Given the description of an element on the screen output the (x, y) to click on. 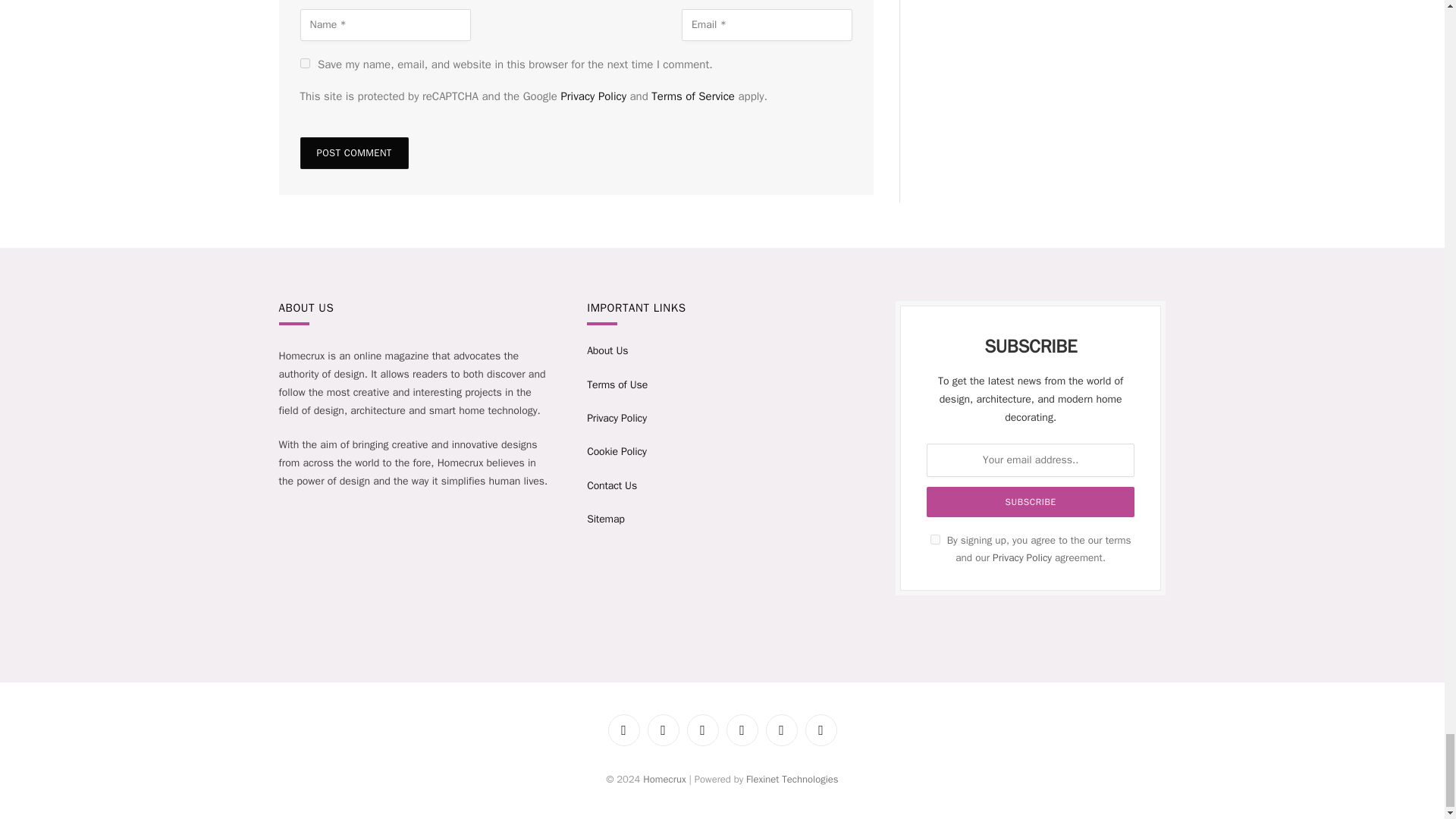
on (935, 539)
yes (304, 62)
SUBSCRIBE (1030, 501)
Post Comment (354, 152)
